Given the description of an element on the screen output the (x, y) to click on. 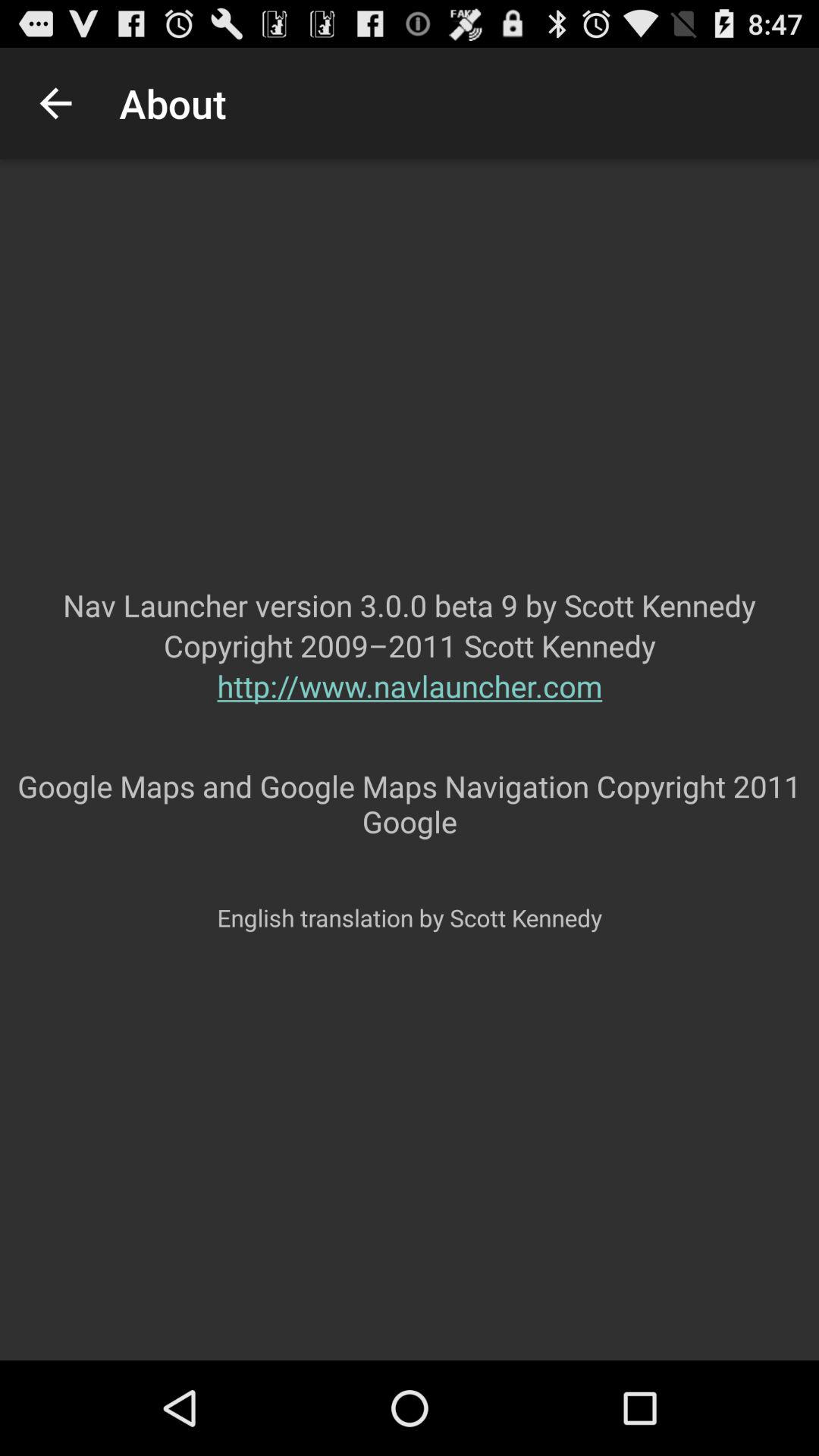
click the app to the left of the about (55, 103)
